Given the description of an element on the screen output the (x, y) to click on. 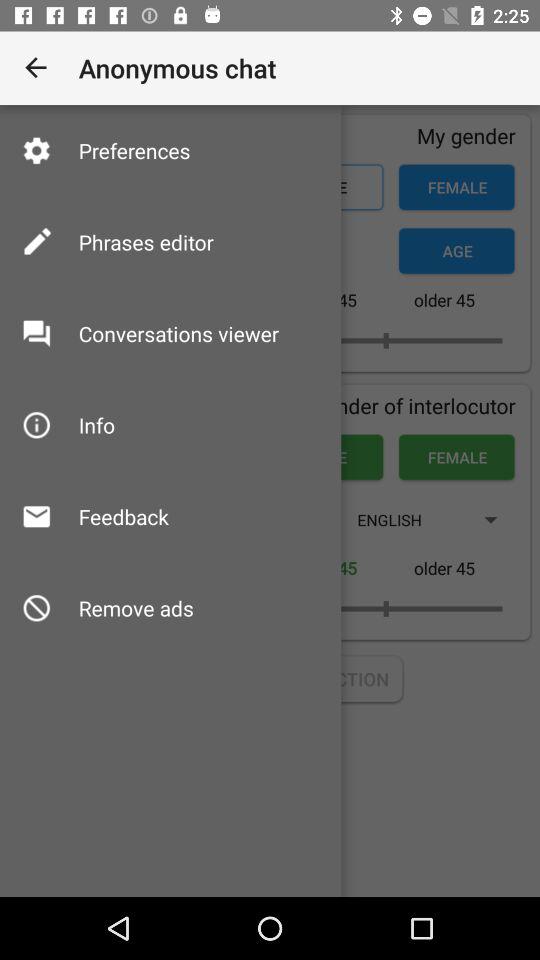
swipe until the conversations viewer icon (178, 333)
